Given the description of an element on the screen output the (x, y) to click on. 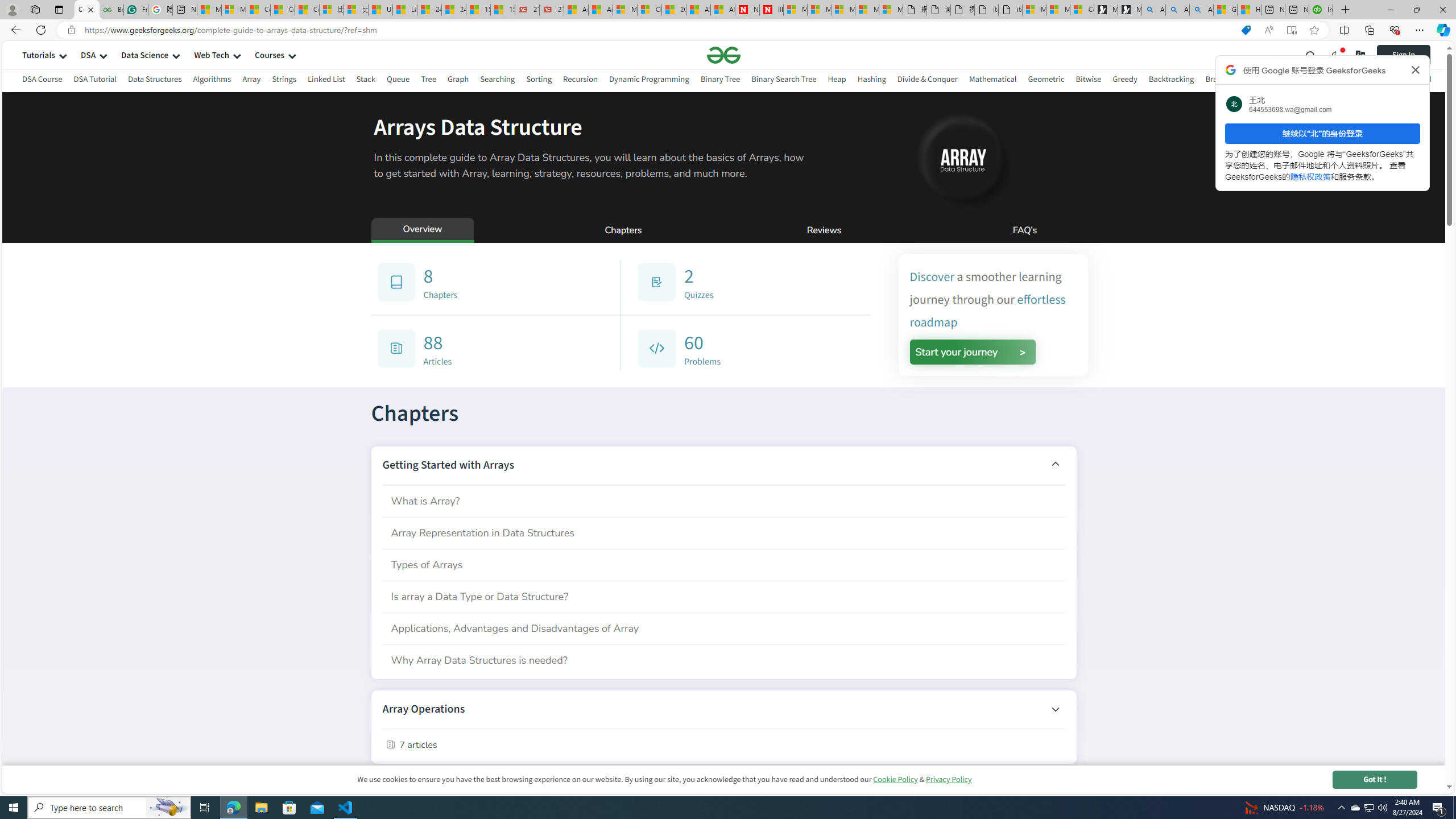
Binary Search Tree (783, 80)
